Given the description of an element on the screen output the (x, y) to click on. 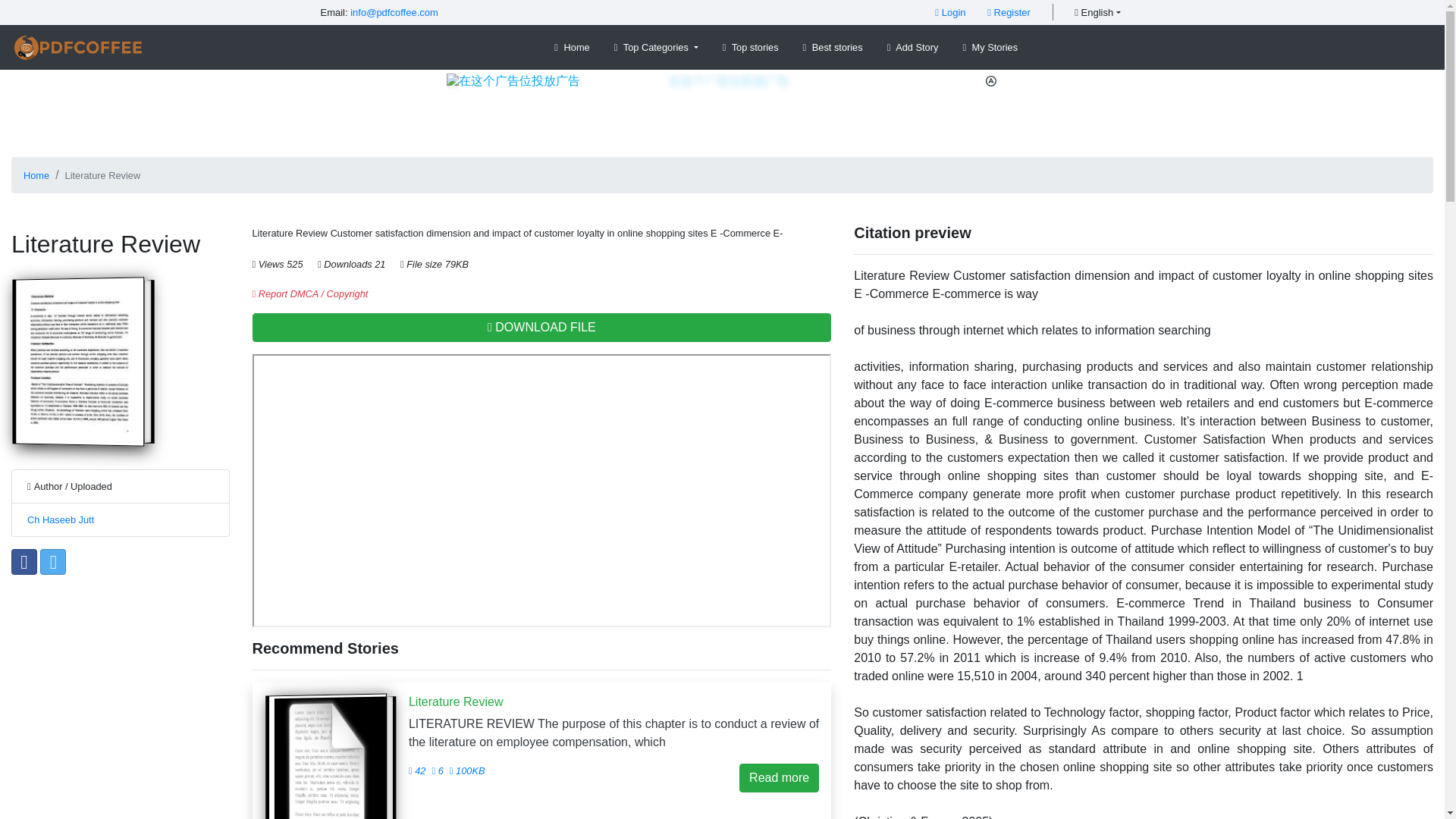
My Stories (989, 47)
Top stories (750, 47)
Best stories (832, 47)
Register (1008, 12)
Home (571, 47)
Ch Haseeb Jutt (60, 519)
Home (36, 174)
Add Story (912, 47)
DOWNLOAD FILE (541, 327)
